Given the description of an element on the screen output the (x, y) to click on. 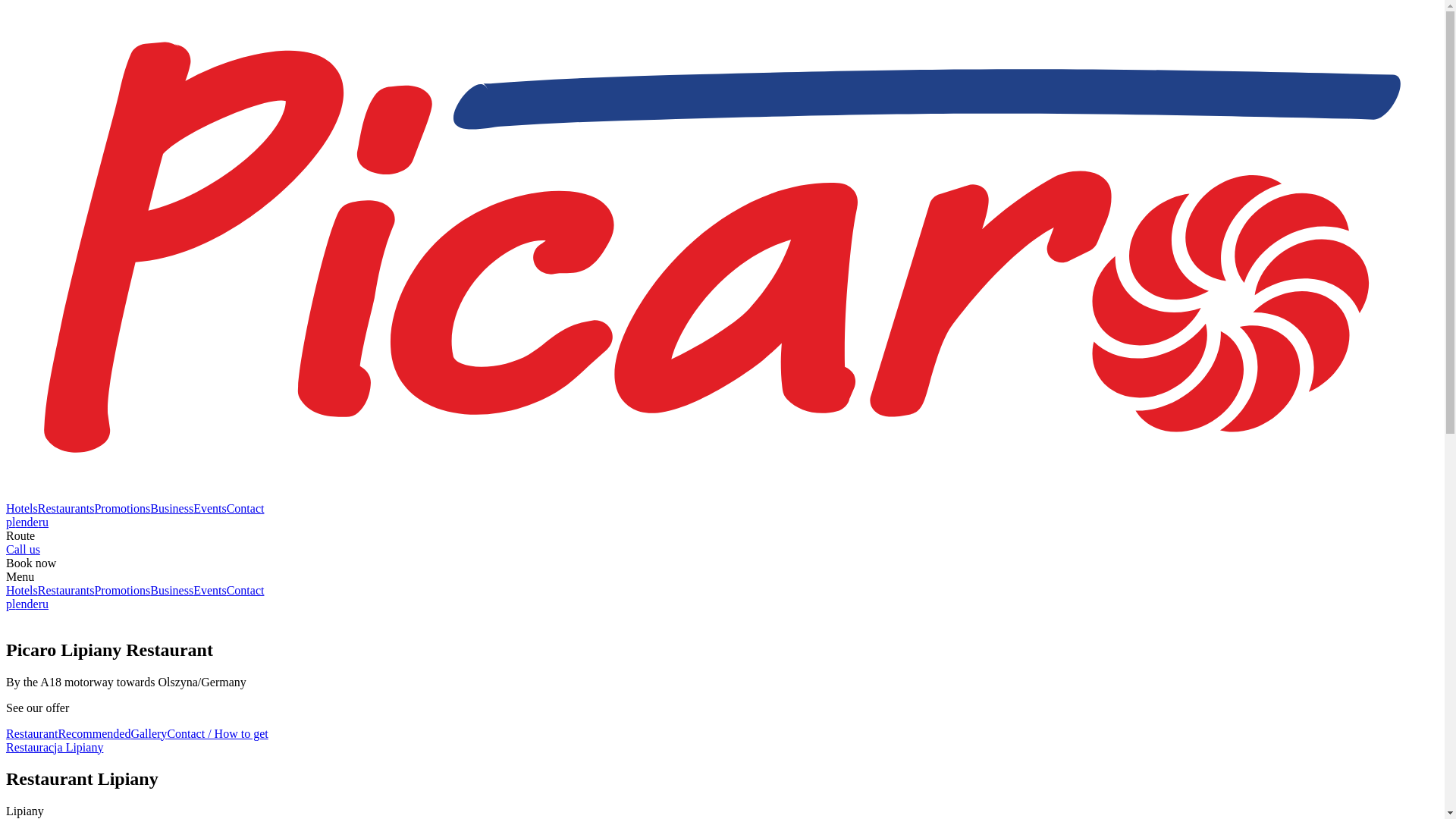
Contact (245, 590)
Restaurant (31, 733)
Hotels (21, 508)
Promotions (121, 508)
Events (210, 508)
Recommended (94, 733)
Business (171, 508)
Events (210, 590)
Promotions (121, 590)
Gallery (149, 733)
Restaurants (65, 590)
Call us (22, 549)
Book now (30, 562)
Contact (245, 508)
Business (171, 590)
